Given the description of an element on the screen output the (x, y) to click on. 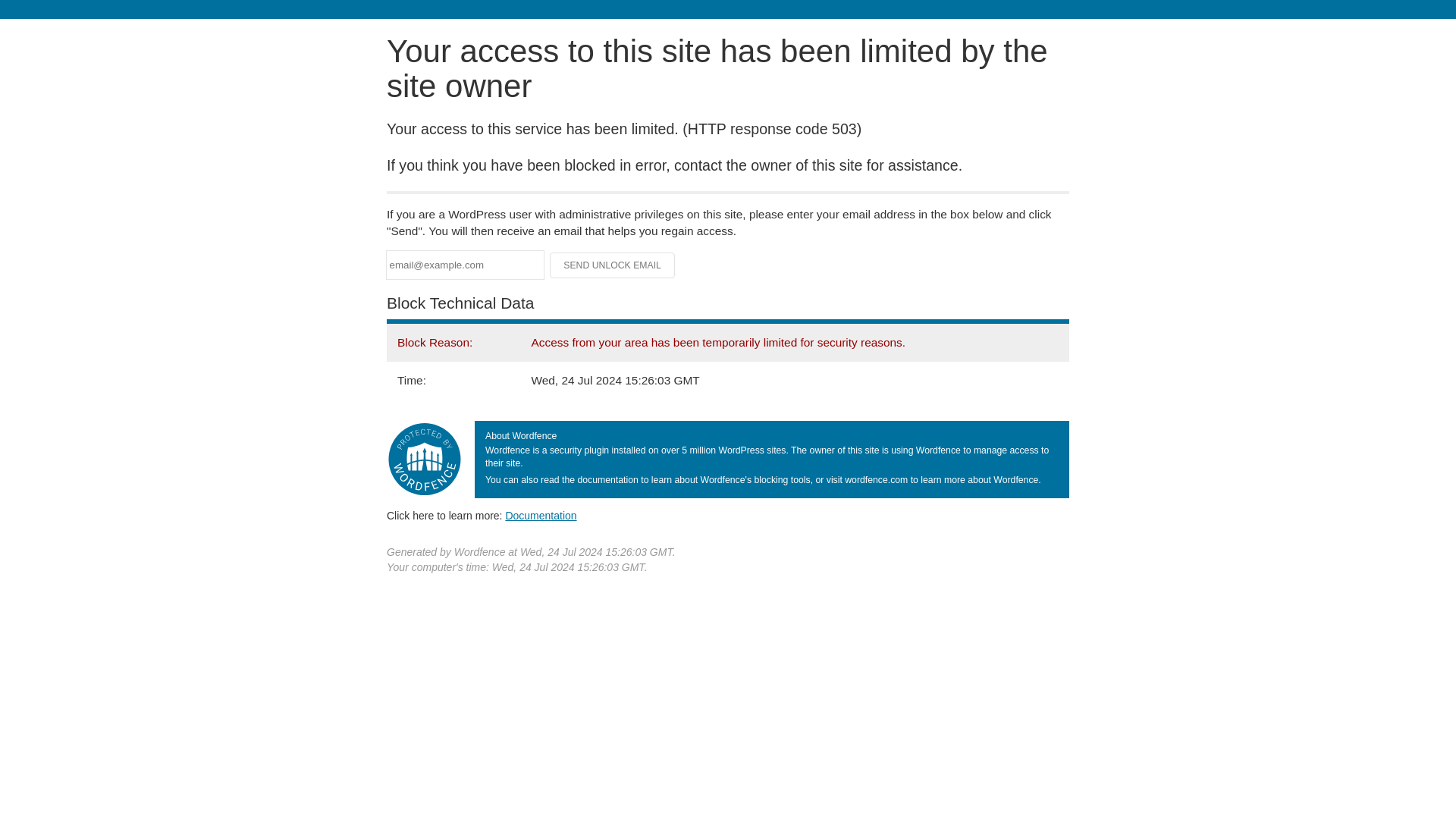
Send Unlock Email (612, 265)
Documentation (540, 515)
Send Unlock Email (612, 265)
